Given the description of an element on the screen output the (x, y) to click on. 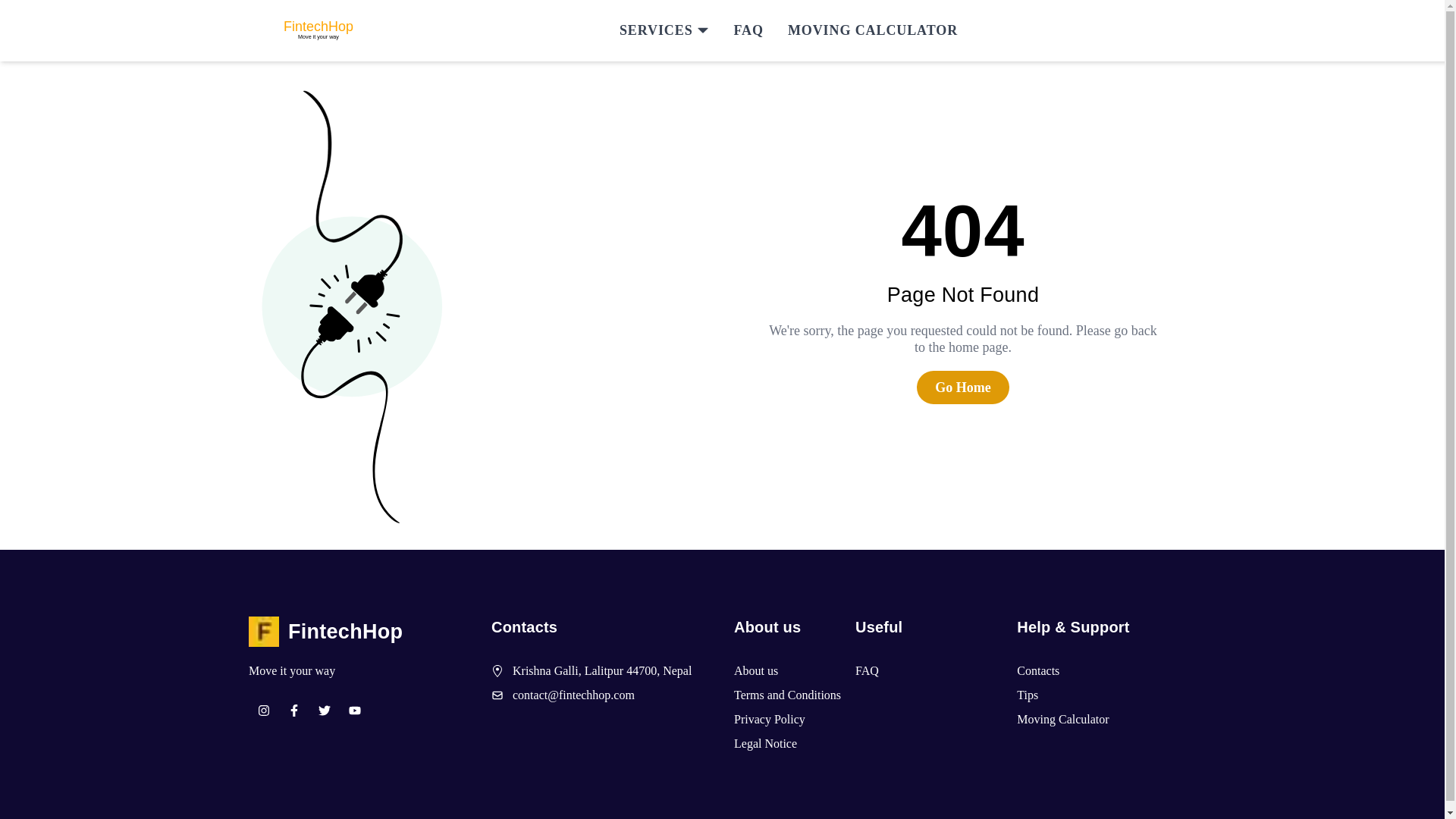
Privacy Policy (769, 719)
Moving Calculator (1062, 719)
FAQ (867, 670)
Go Home (963, 387)
About us (755, 670)
Tips (1027, 695)
Contacts (1037, 670)
Legal Notice (764, 743)
FAQ (747, 29)
SERVICES (665, 30)
